Given the description of an element on the screen output the (x, y) to click on. 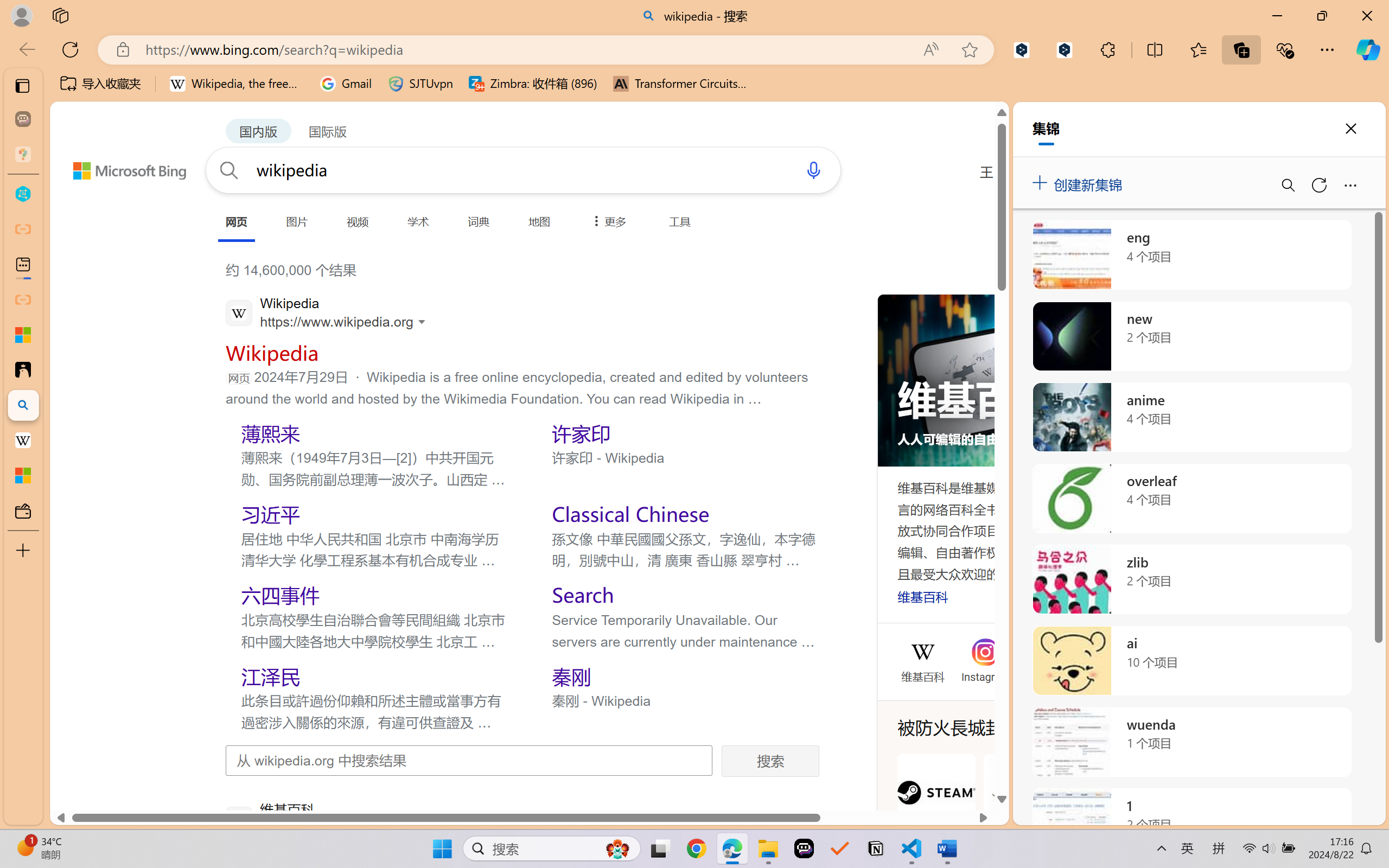
Wikipedia (922, 652)
Search (582, 595)
